Given the description of an element on the screen output the (x, y) to click on. 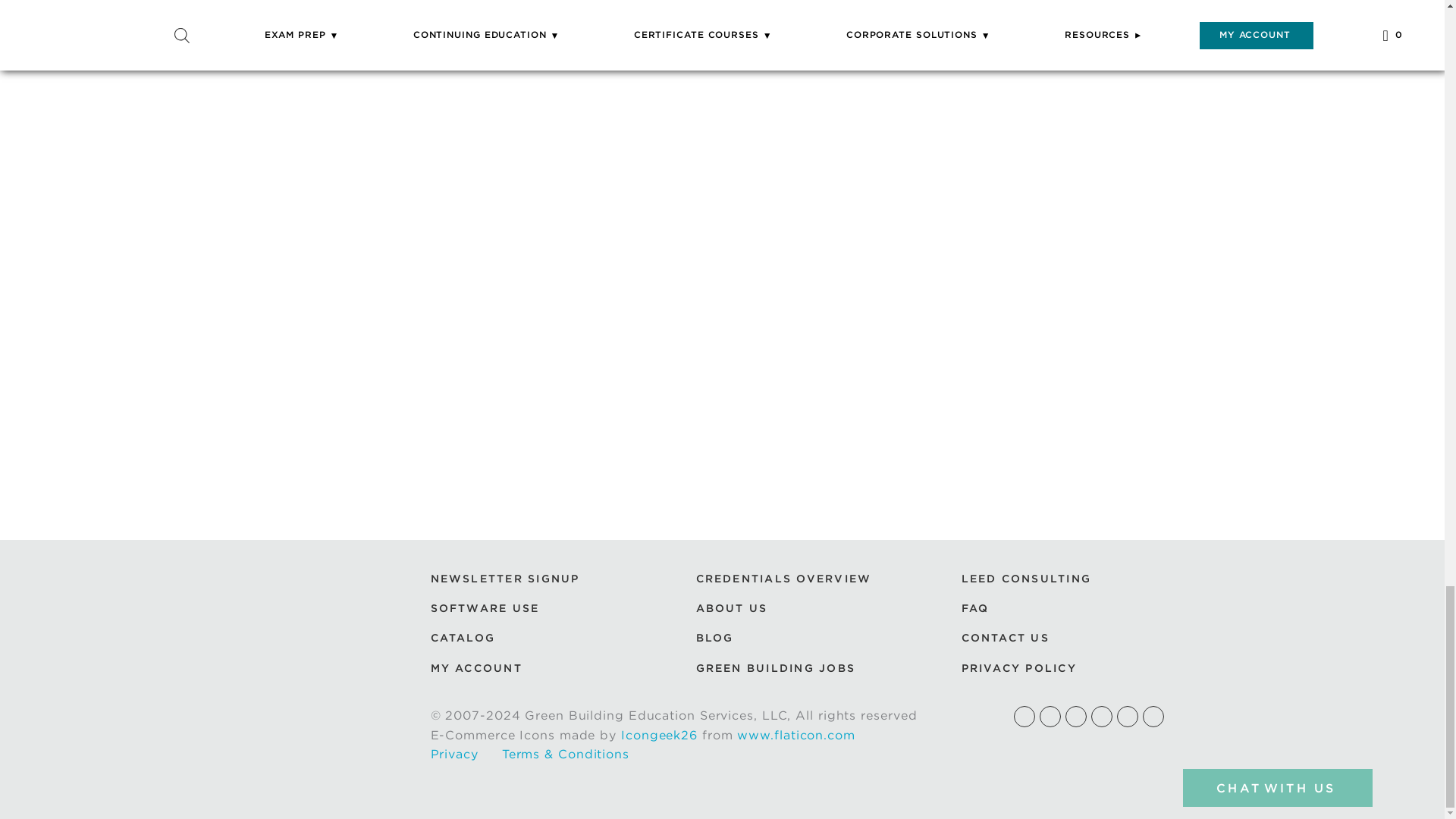
Flaticon (795, 735)
Icongeek26 (659, 735)
